Given the description of an element on the screen output the (x, y) to click on. 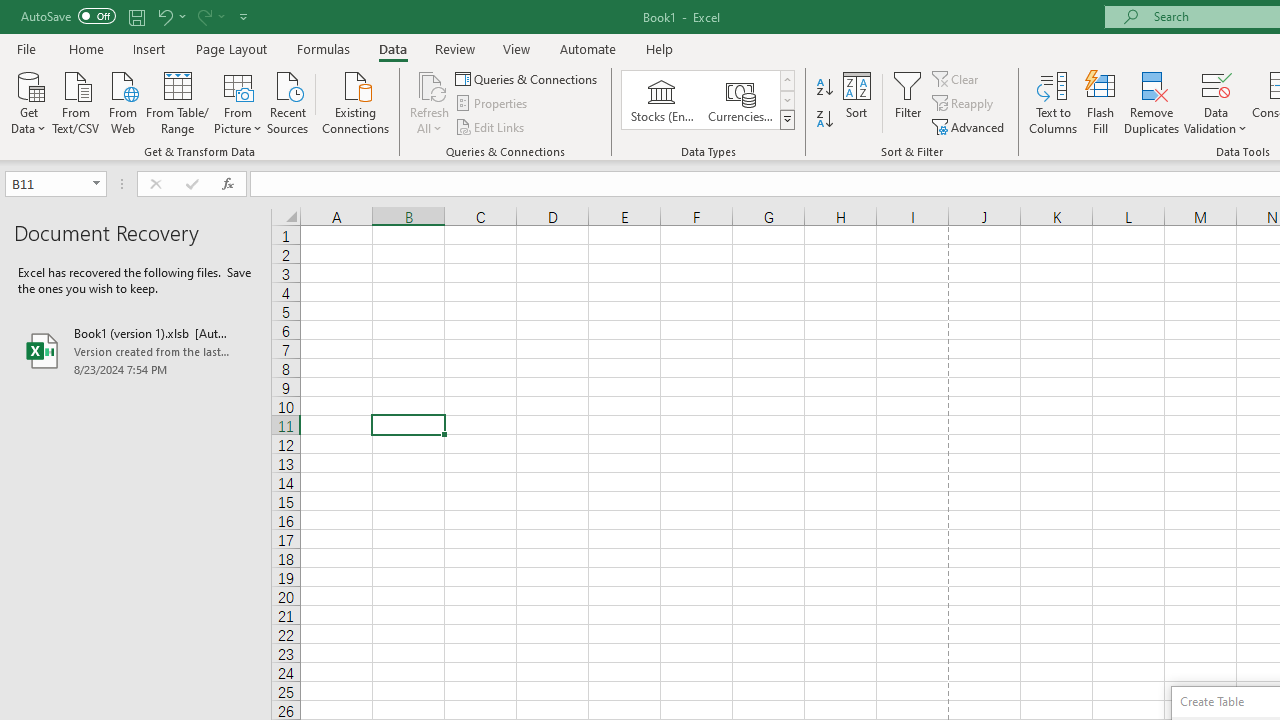
Sort Z to A (824, 119)
Queries & Connections (527, 78)
Data Types (786, 120)
Sort... (856, 102)
Filter (908, 102)
From Picture (238, 101)
Currencies (English) (740, 100)
